Given the description of an element on the screen output the (x, y) to click on. 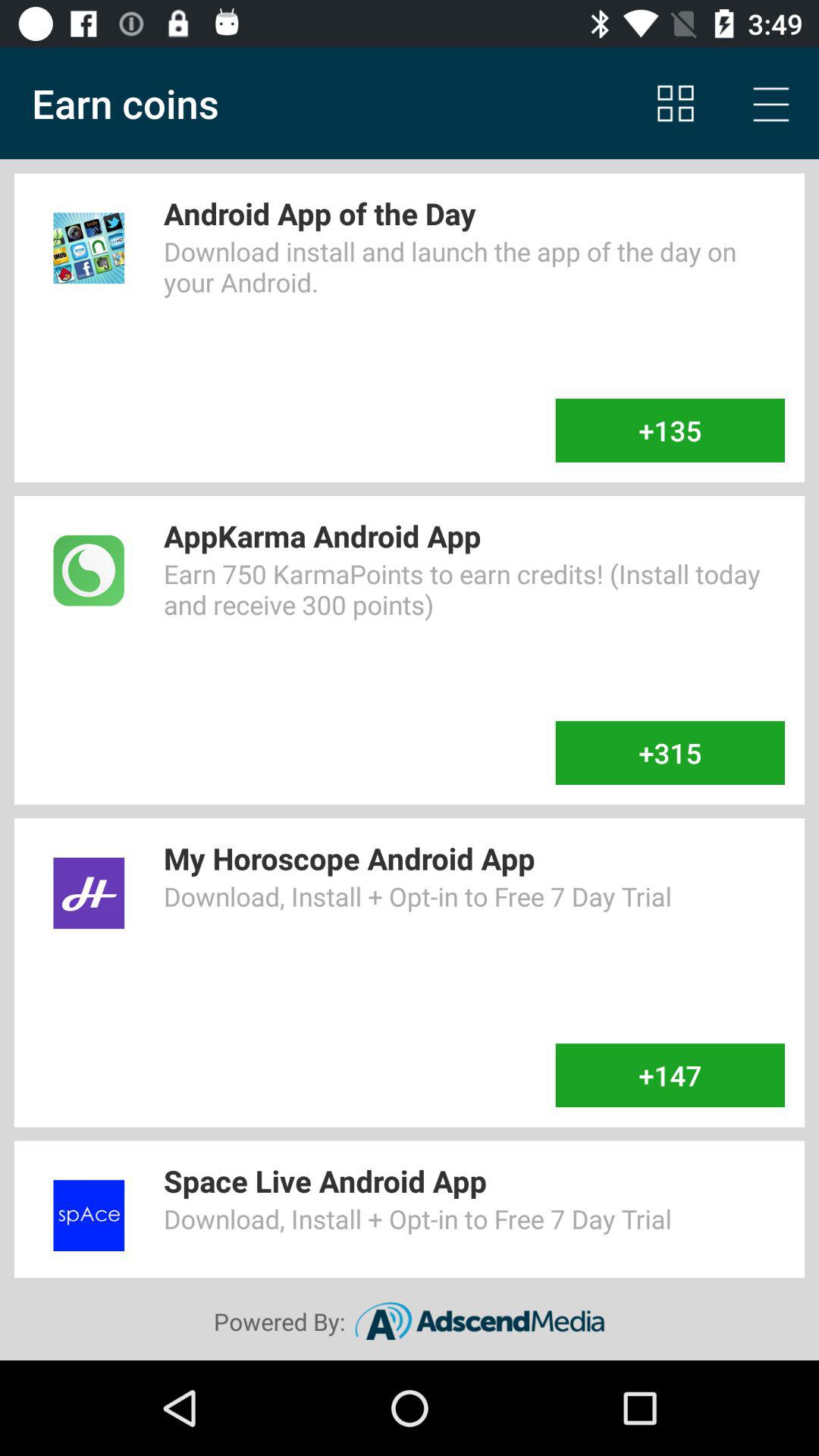
launch the icon next to the earn coins (675, 103)
